Given the description of an element on the screen output the (x, y) to click on. 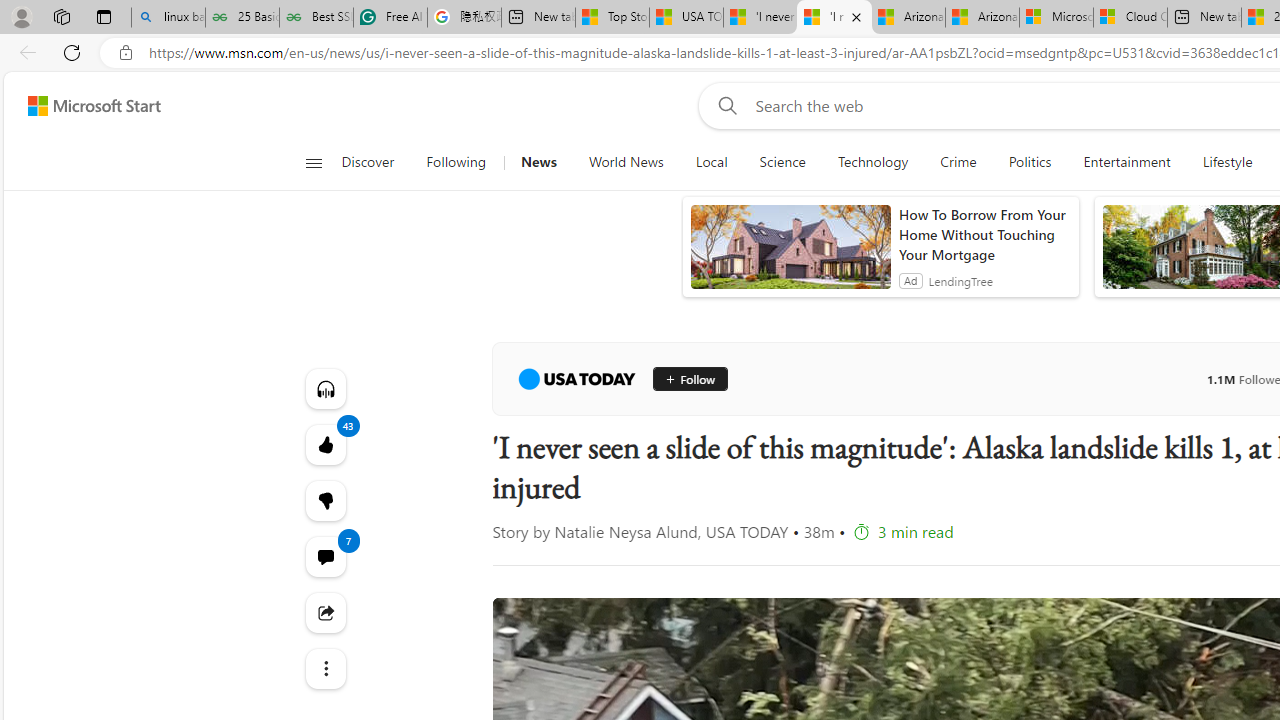
USA TODAY (576, 378)
